Given the description of an element on the screen output the (x, y) to click on. 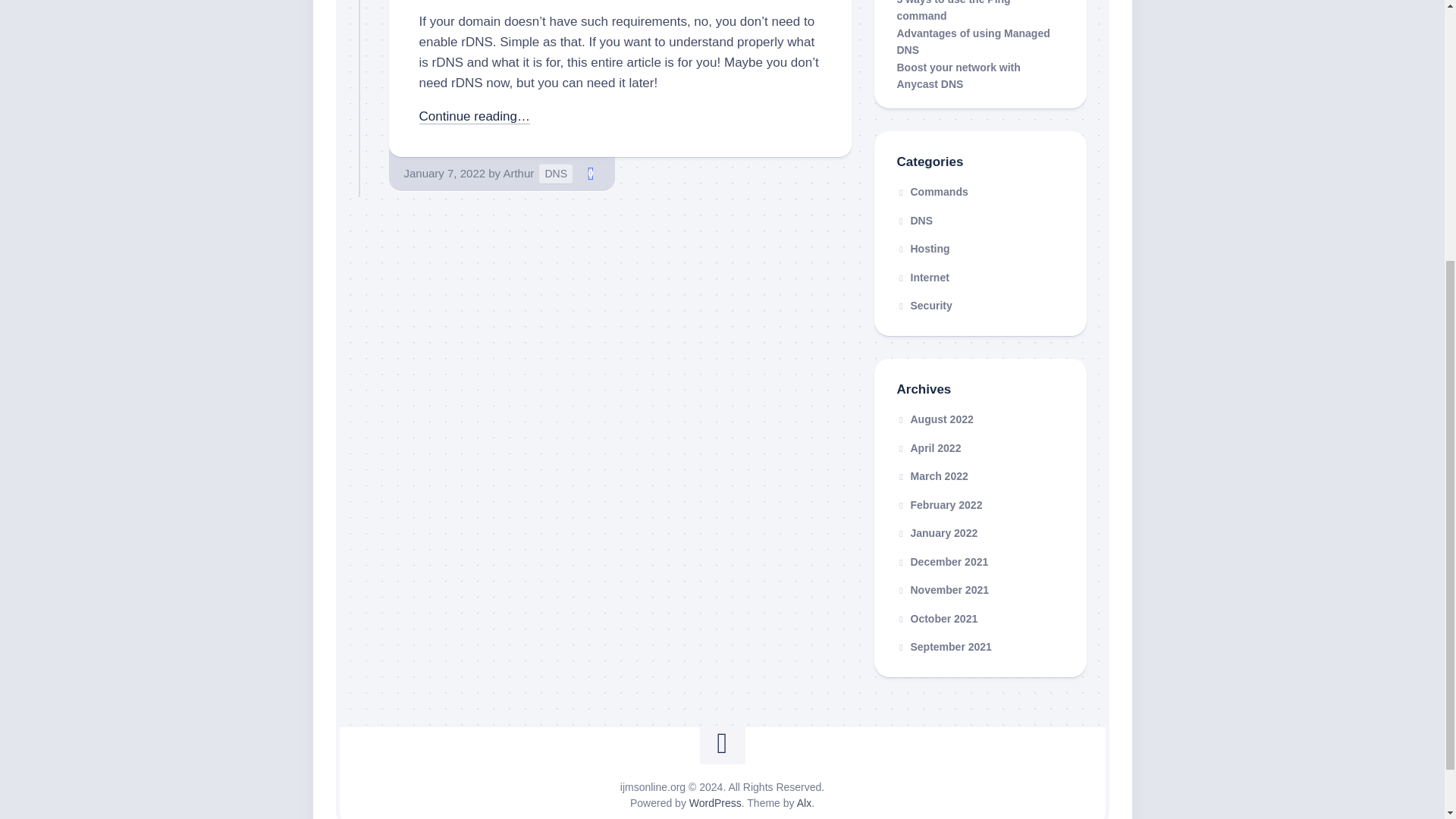
January 2022 (936, 532)
September 2021 (943, 646)
Security (924, 305)
Hosting (922, 248)
Advantages of using Managed DNS (972, 41)
Boost your network with Anycast DNS (958, 75)
5 ways to use the Ping command (953, 11)
Internet (922, 276)
Commands (932, 191)
DNS (914, 220)
